Given the description of an element on the screen output the (x, y) to click on. 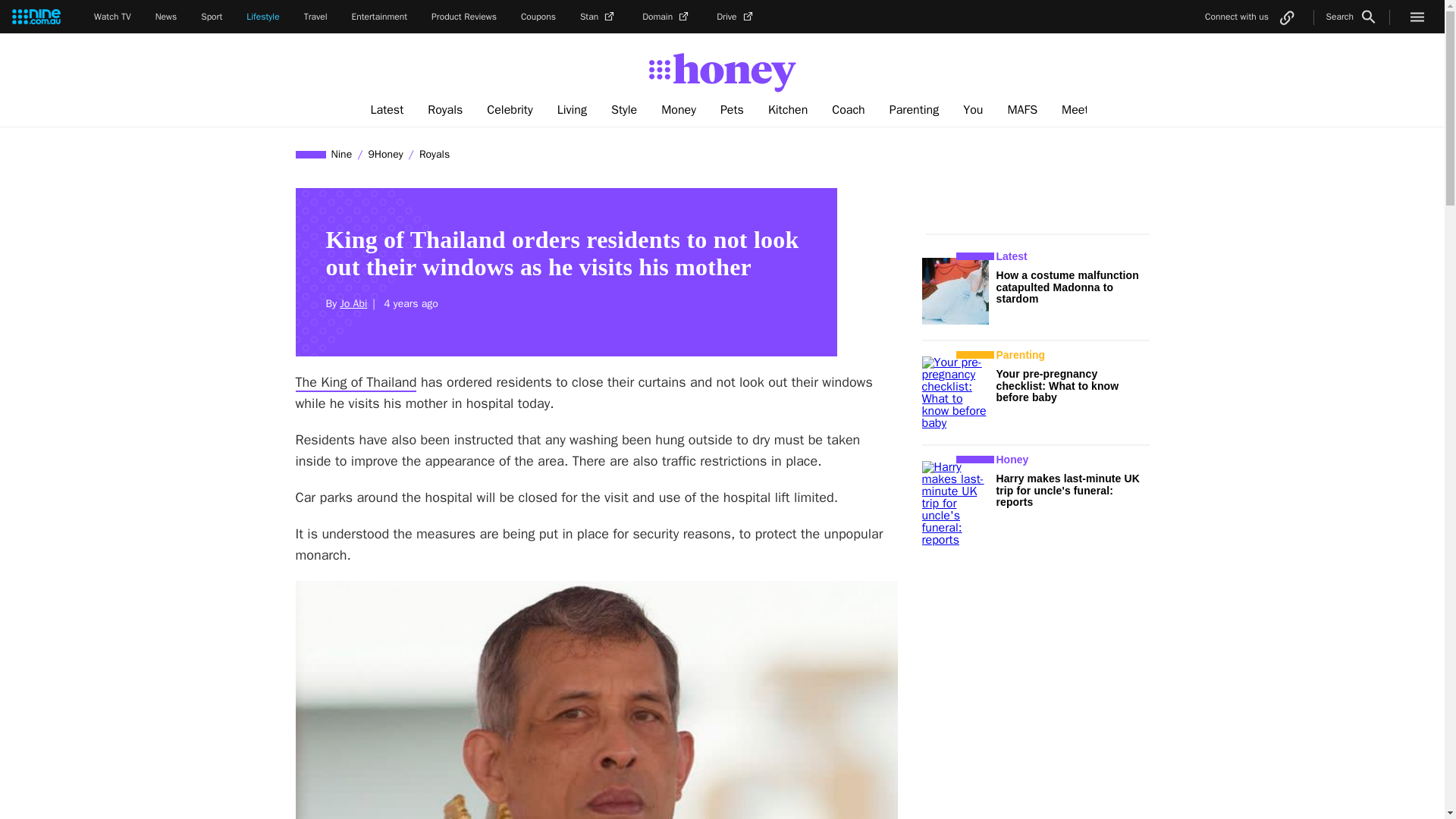
Coupons (538, 16)
Entertainment (379, 16)
Royals (444, 109)
Drive (735, 16)
Product Reviews (463, 16)
2020-08-12 20:40 (408, 303)
Lifestyle (262, 16)
Watch TV (112, 16)
Domain (667, 16)
Stan (598, 16)
